Given the description of an element on the screen output the (x, y) to click on. 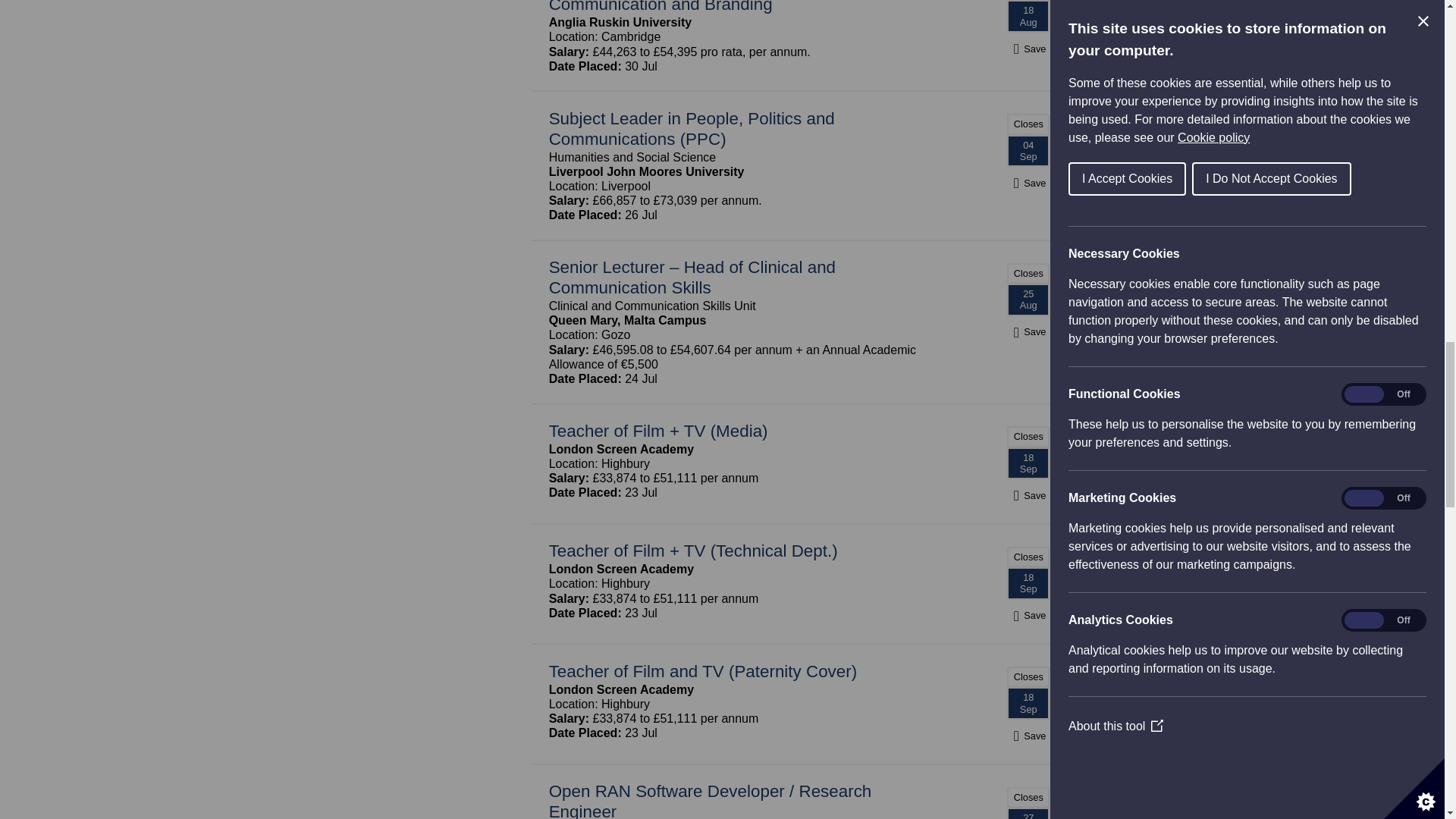
Save job (1027, 48)
Save job (1027, 495)
Save job (1027, 182)
Save job (1027, 735)
Save job (1027, 615)
Save job (1027, 331)
